Given the description of an element on the screen output the (x, y) to click on. 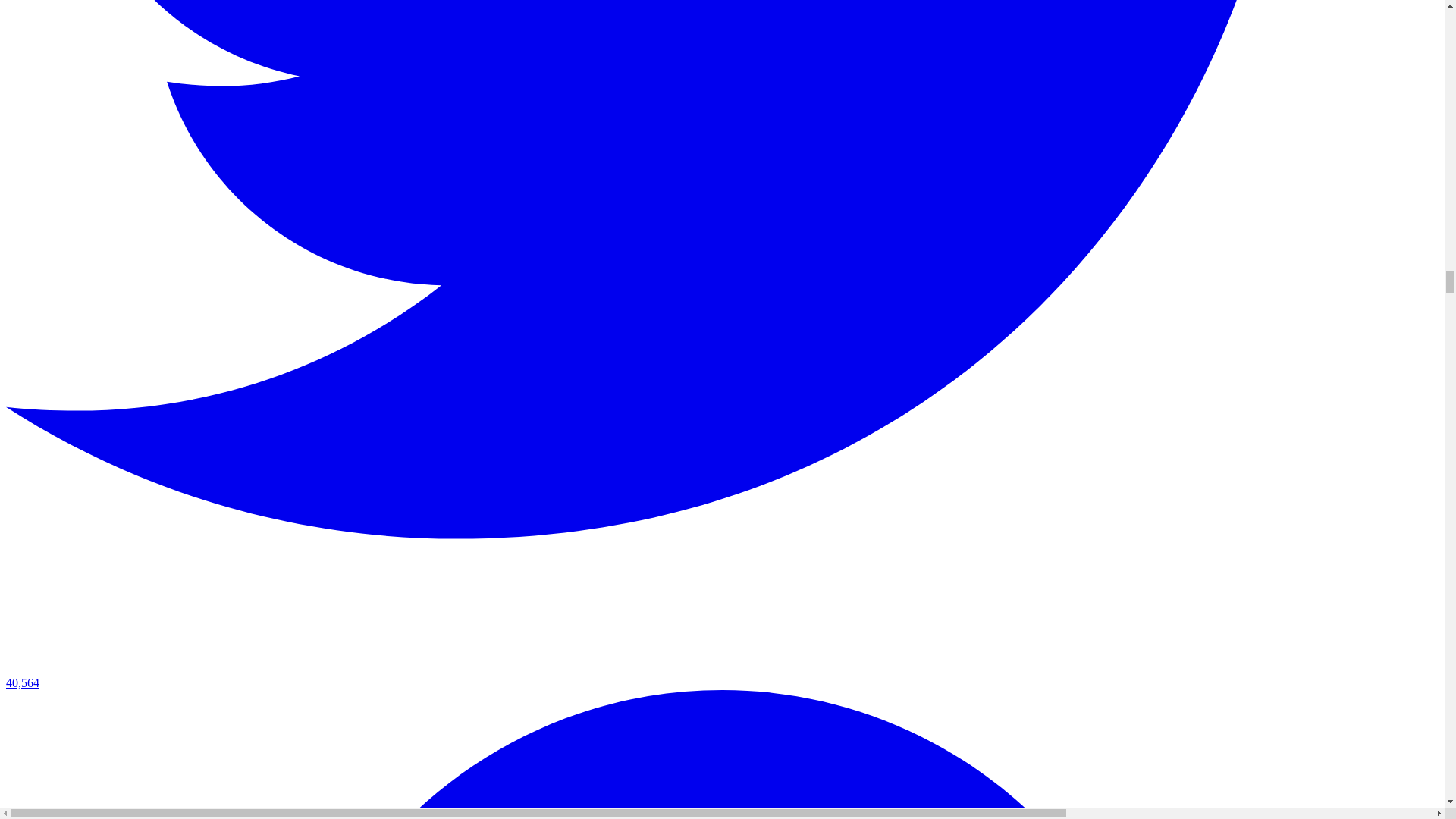
40,564 Tweets (721, 675)
